Given the description of an element on the screen output the (x, y) to click on. 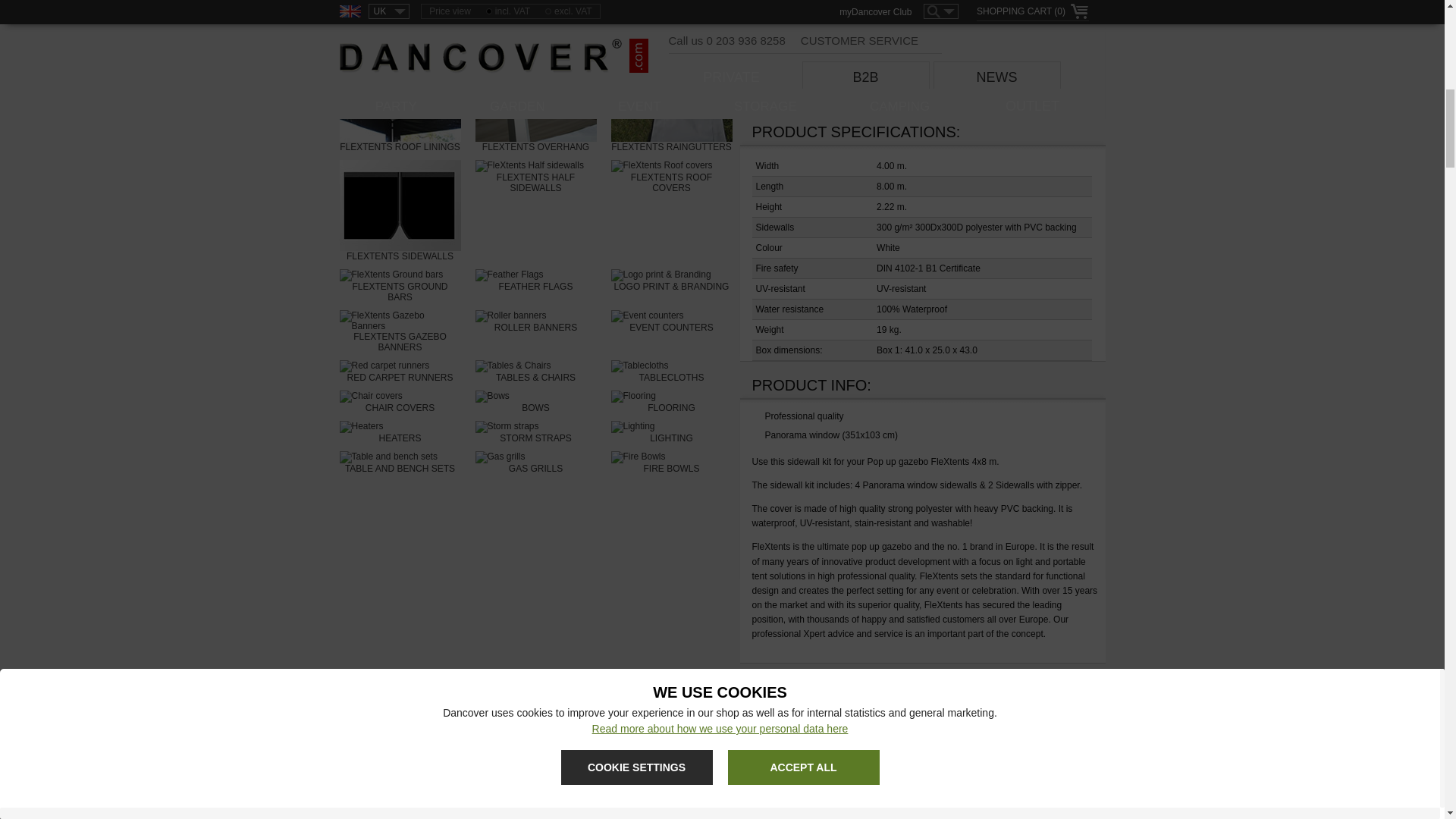
Carry bags for FleXtents (671, 21)
FleXtents Gazebo Banners (400, 331)
Red carpet runners (400, 371)
FleXtents Ground bars (400, 285)
FleXtents Roof Linings (400, 101)
FleXtents overhang (534, 101)
FleXtents Half sidewalls (534, 176)
FleXtents Curtains (400, 16)
FleXtents Roof covers (671, 176)
Event counters (671, 321)
Weight discs (534, 16)
Roller banners (534, 321)
FleXtents sidewalls (400, 210)
FleXtents raingutters (671, 101)
Feather Flags (534, 280)
